Given the description of an element on the screen output the (x, y) to click on. 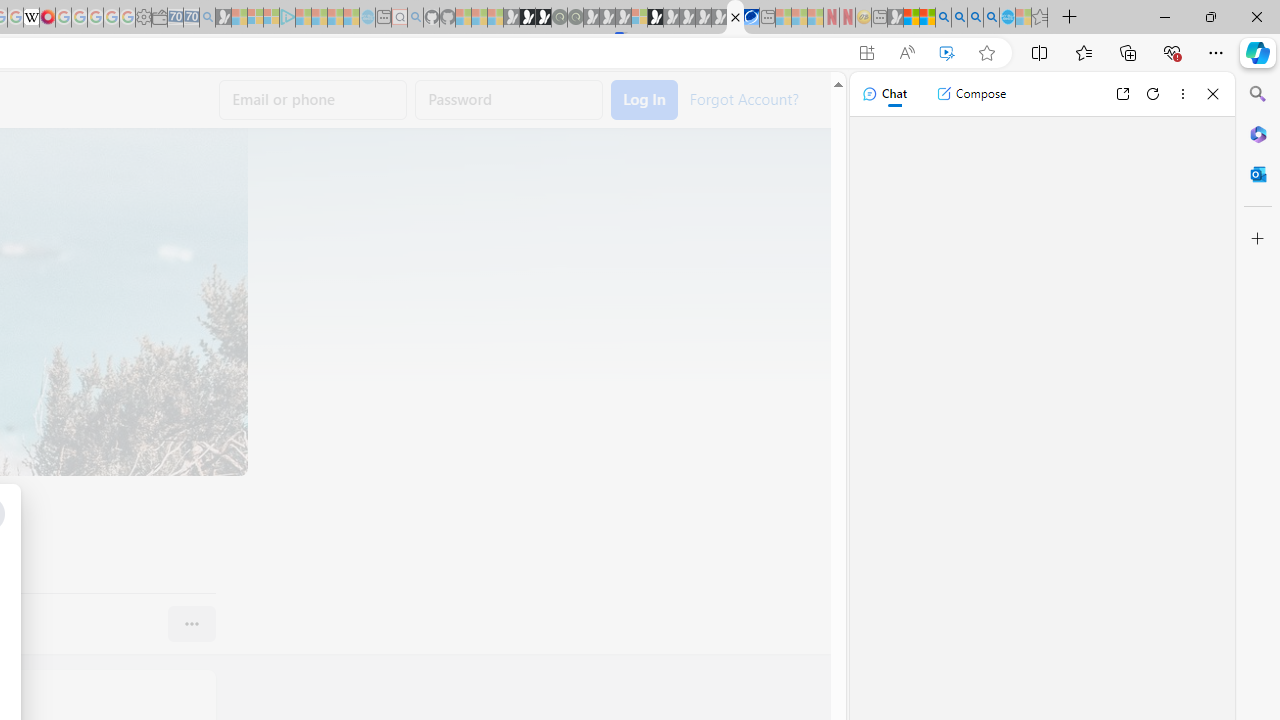
Email or phone (313, 99)
Nordace | Facebook (735, 17)
